Given the description of an element on the screen output the (x, y) to click on. 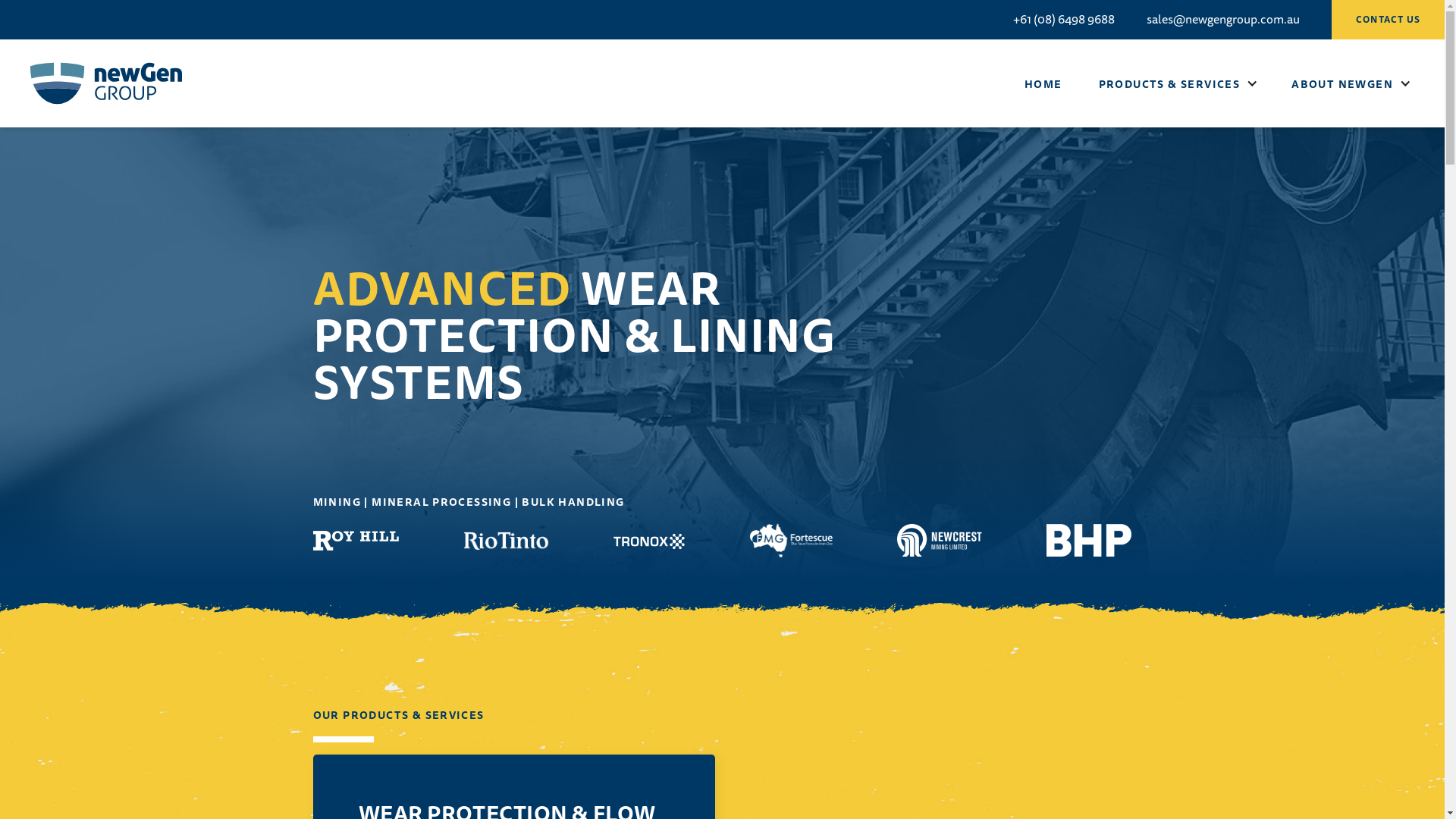
CONTACT US Element type: text (1387, 19)
PRODUCTS & SERVICES Element type: text (1169, 83)
HOME Element type: text (1043, 83)
ABOUT NEWGEN Element type: text (1342, 83)
+61 (08) 6498 9688 Element type: text (1063, 18)
sales@newgengroup.com.au Element type: text (1222, 18)
